Given the description of an element on the screen output the (x, y) to click on. 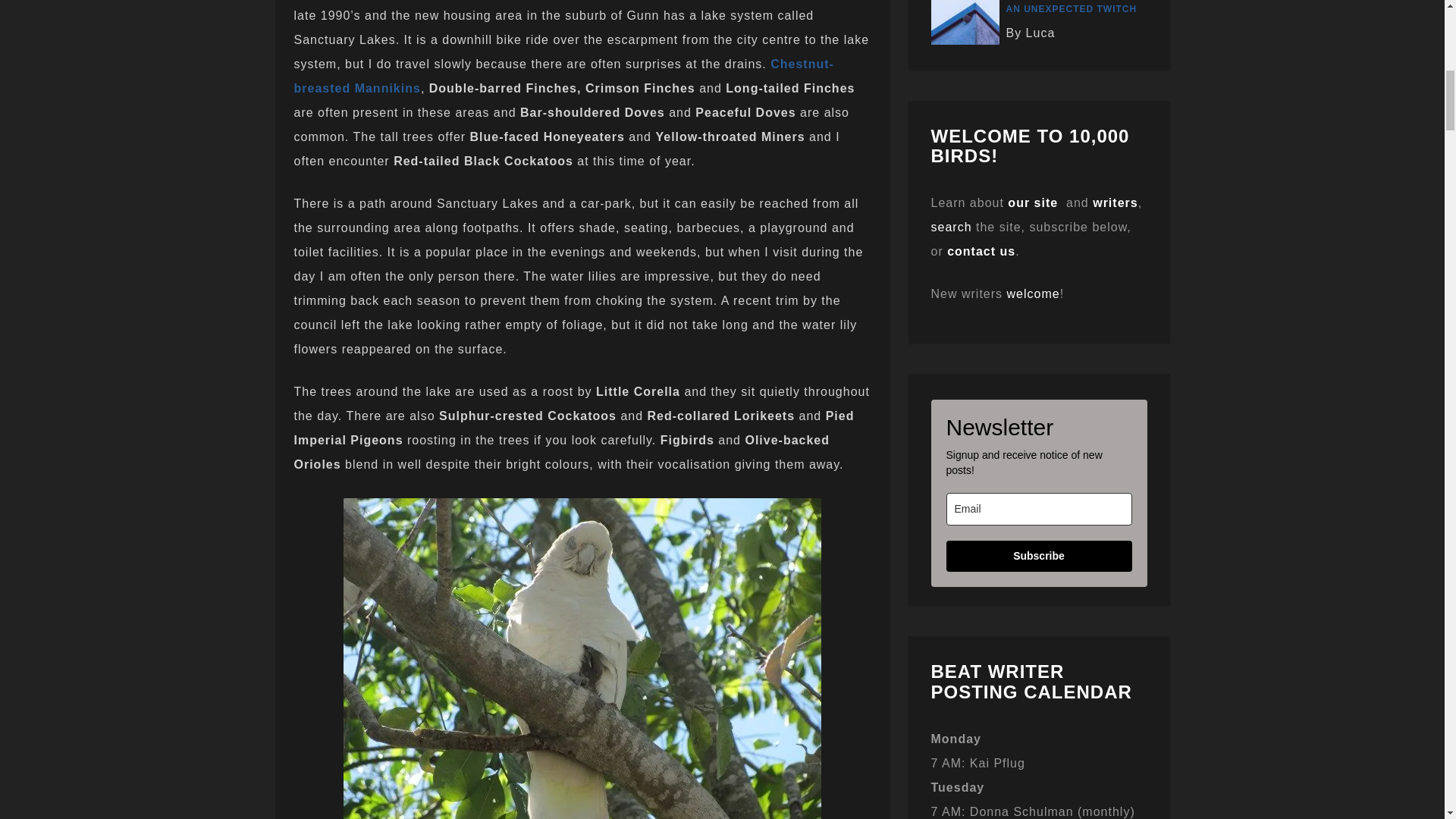
Contact (980, 250)
About 10,000 Birds (1032, 202)
About the 10,000 Birds Beat Writers (1115, 202)
Chestnut-breasted Mannikins (564, 76)
